Given the description of an element on the screen output the (x, y) to click on. 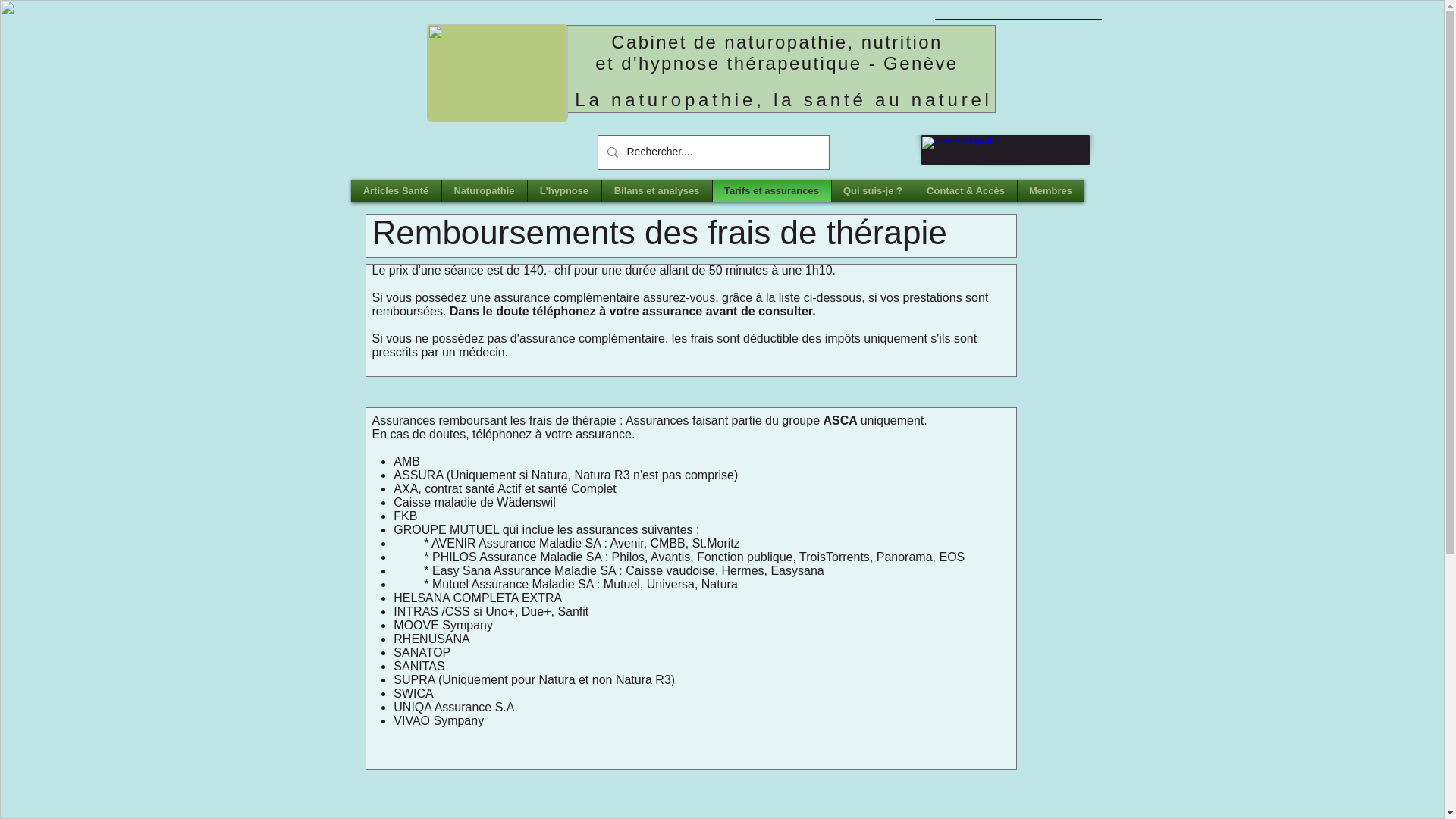
Tarifs et assurances Element type: text (770, 190)
Bilans et analyses Element type: text (656, 190)
Qui suis-je ? Element type: text (872, 190)
Membres Element type: text (1049, 190)
